Given the description of an element on the screen output the (x, y) to click on. 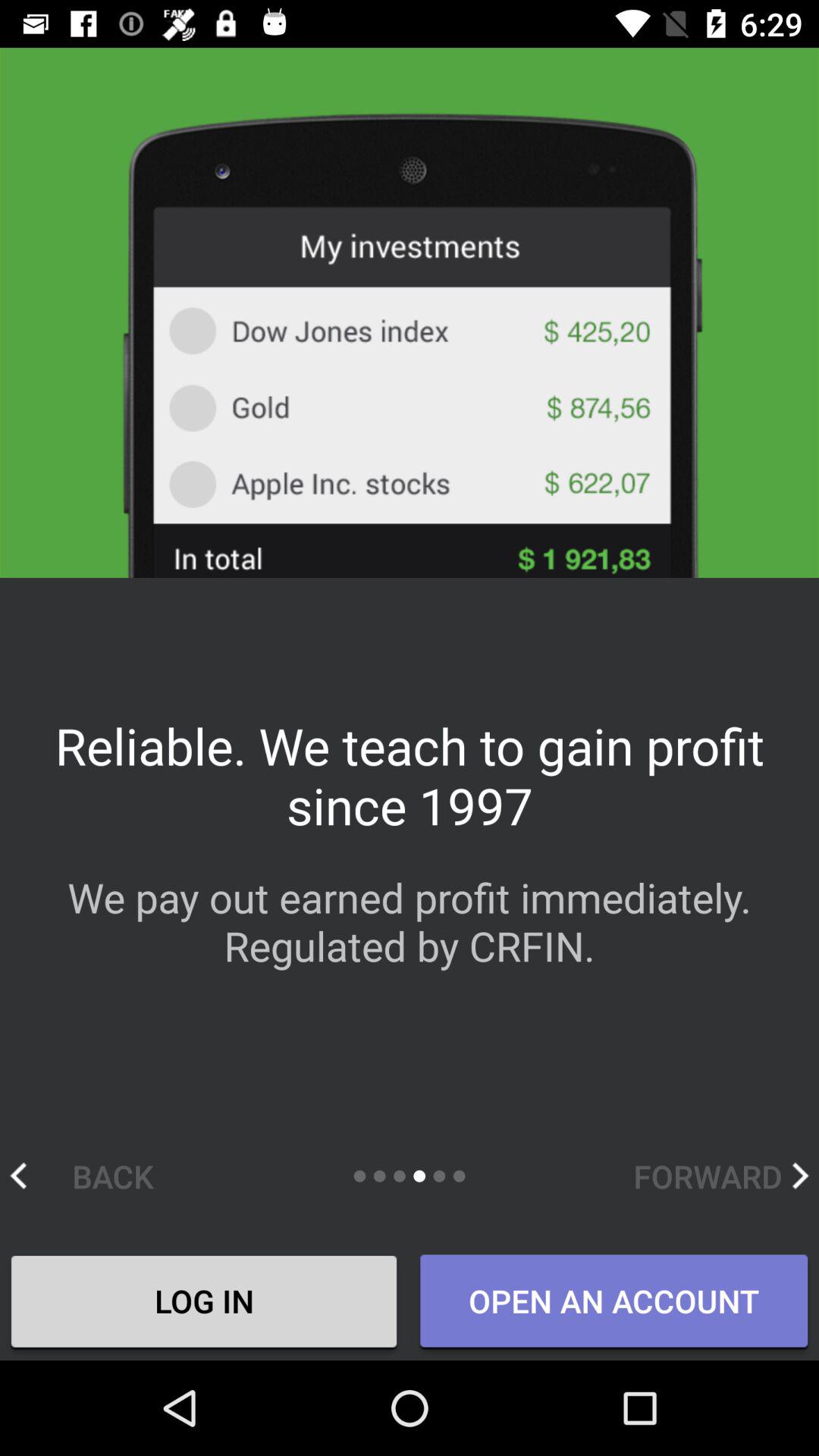
open log in (204, 1303)
